Given the description of an element on the screen output the (x, y) to click on. 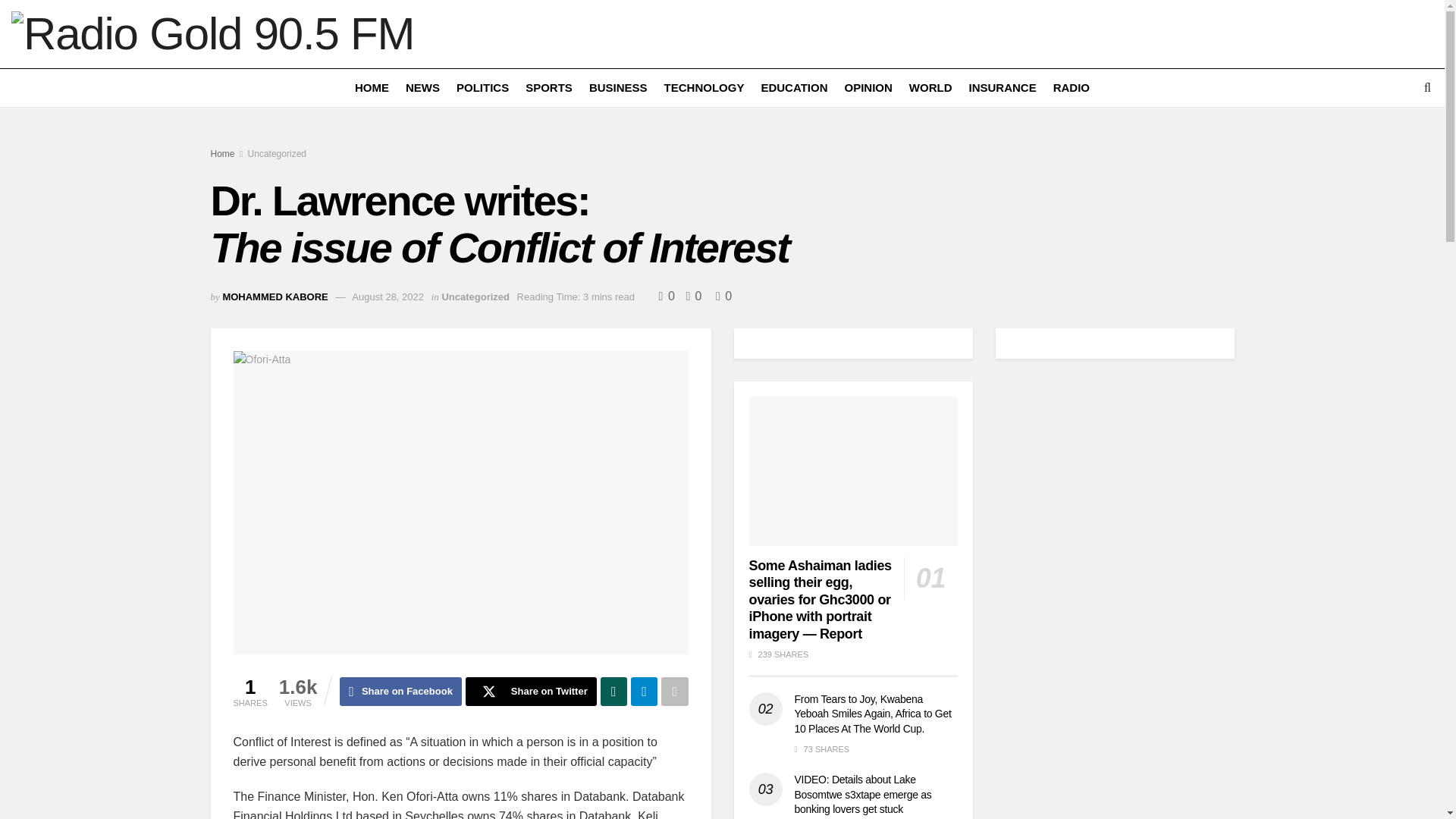
POLITICS (482, 87)
0 (668, 295)
BUSINESS (618, 87)
Uncategorized (475, 296)
INSURANCE (1001, 87)
EDUCATION (793, 87)
0 (724, 295)
OPINION (867, 87)
RADIO (1070, 87)
WORLD (930, 87)
